Given the description of an element on the screen output the (x, y) to click on. 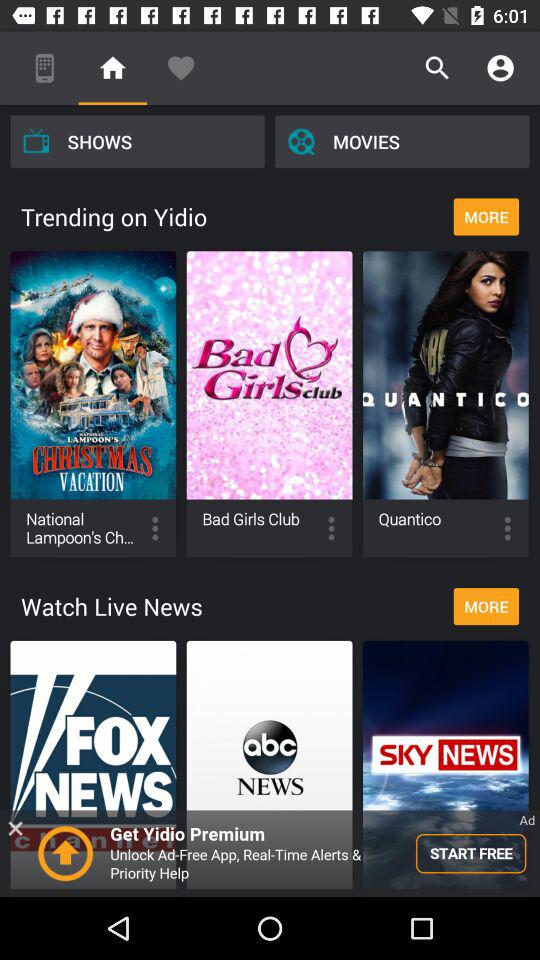
click the item above movies (500, 67)
